Given the description of an element on the screen output the (x, y) to click on. 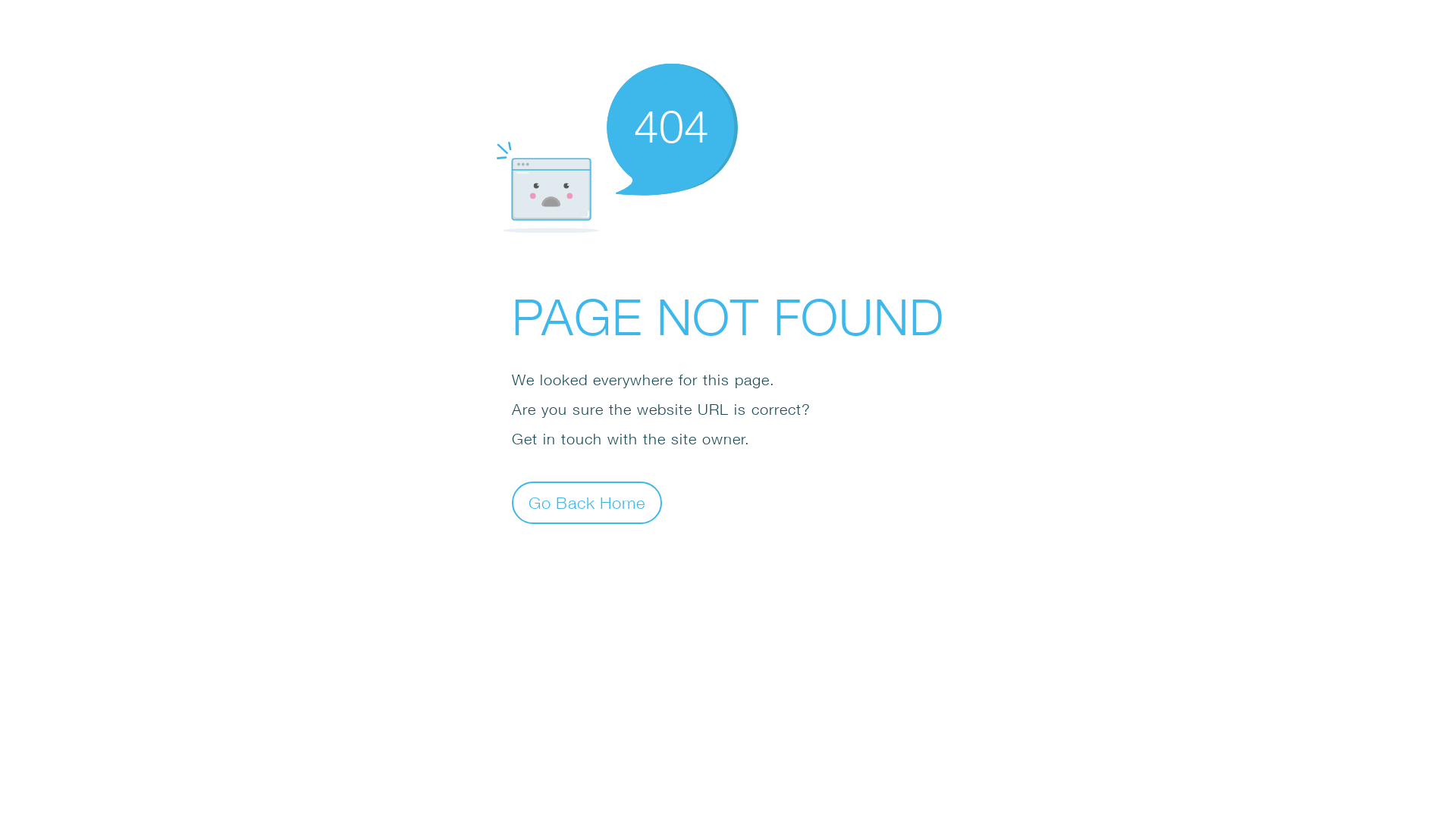
Go Back Home Element type: text (586, 502)
